Given the description of an element on the screen output the (x, y) to click on. 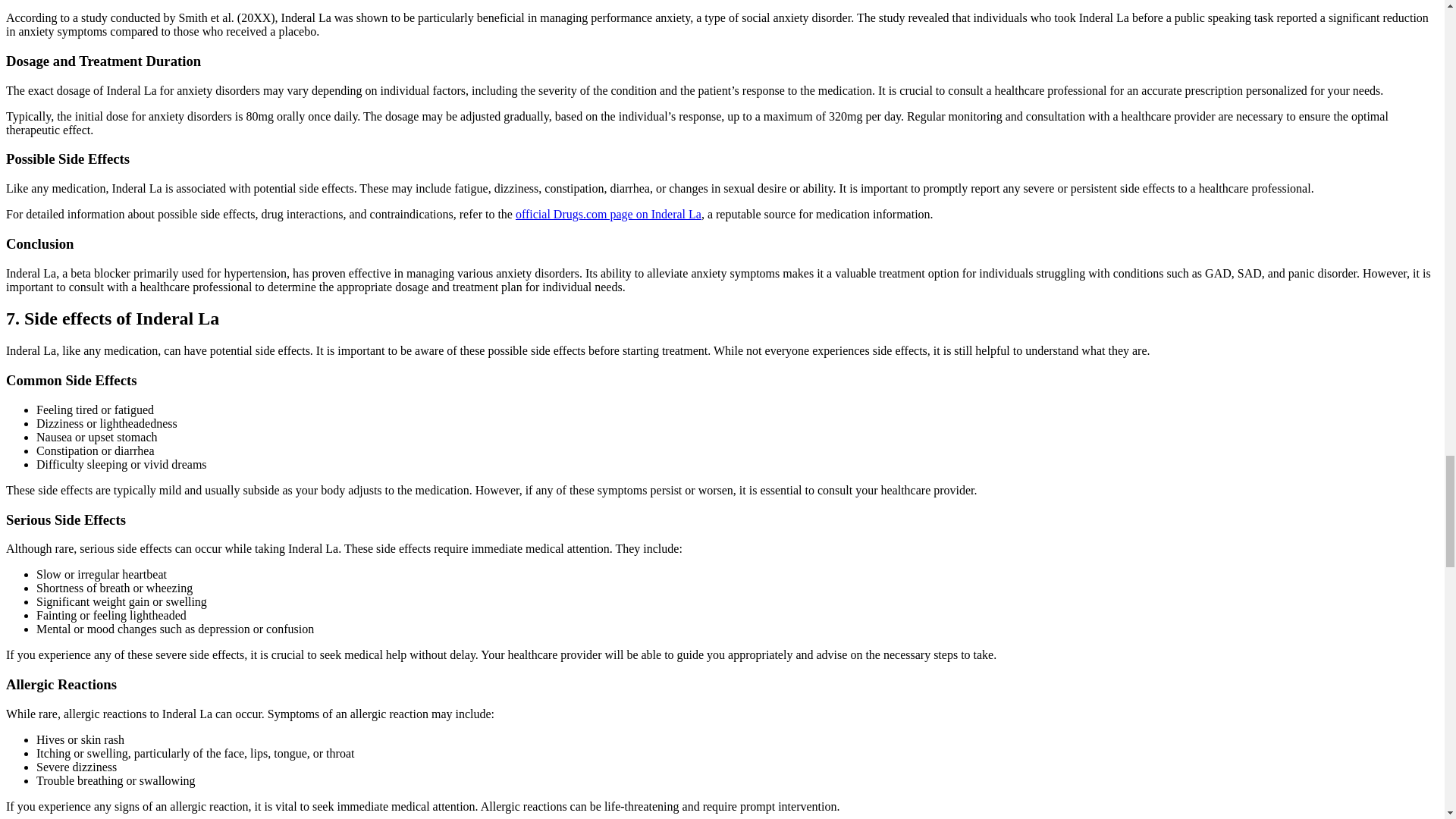
official Drugs.com page on Inderal La (608, 214)
